Given the description of an element on the screen output the (x, y) to click on. 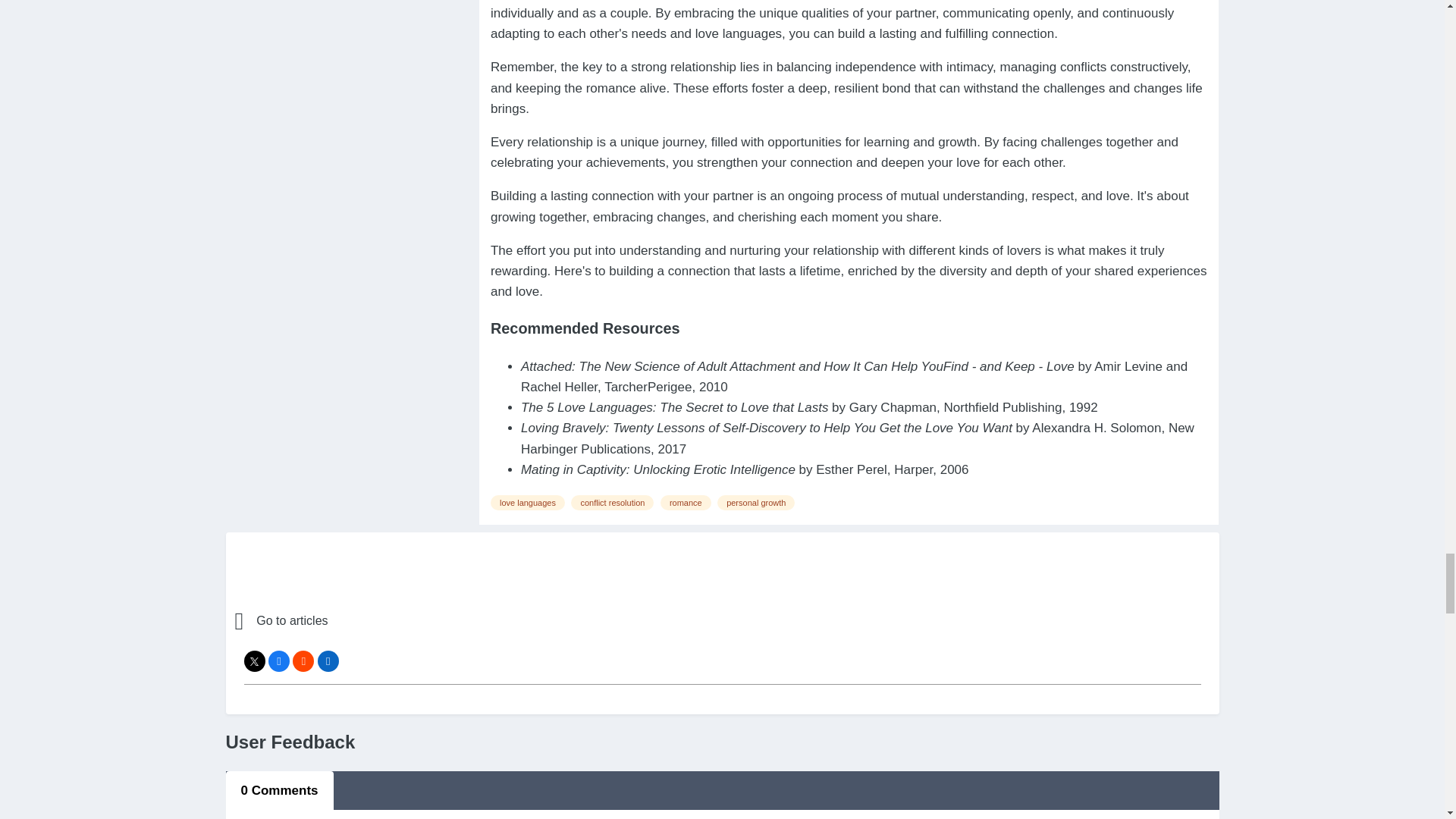
Share on X (254, 660)
Go to Personal Growth (367, 620)
Share on Reddit (303, 660)
Find other content tagged with 'romance' (686, 502)
Share on Facebook (278, 660)
Find other content tagged with 'personal growth' (755, 502)
Find other content tagged with 'conflict resolution' (611, 502)
Find other content tagged with 'love languages' (527, 502)
